Given the description of an element on the screen output the (x, y) to click on. 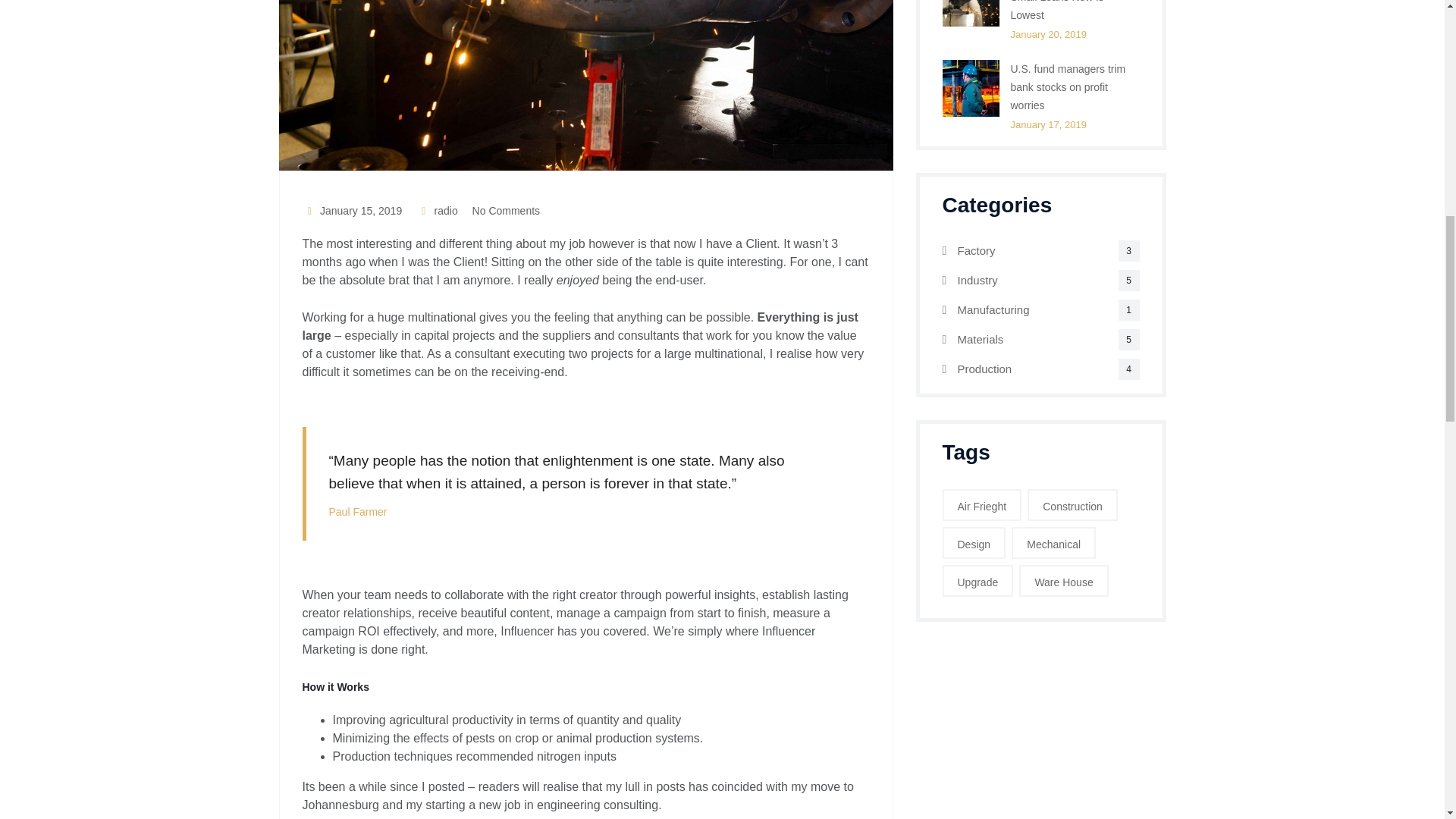
January 15, 2019 (351, 210)
radio (437, 210)
Posted by radio (437, 210)
